Given the description of an element on the screen output the (x, y) to click on. 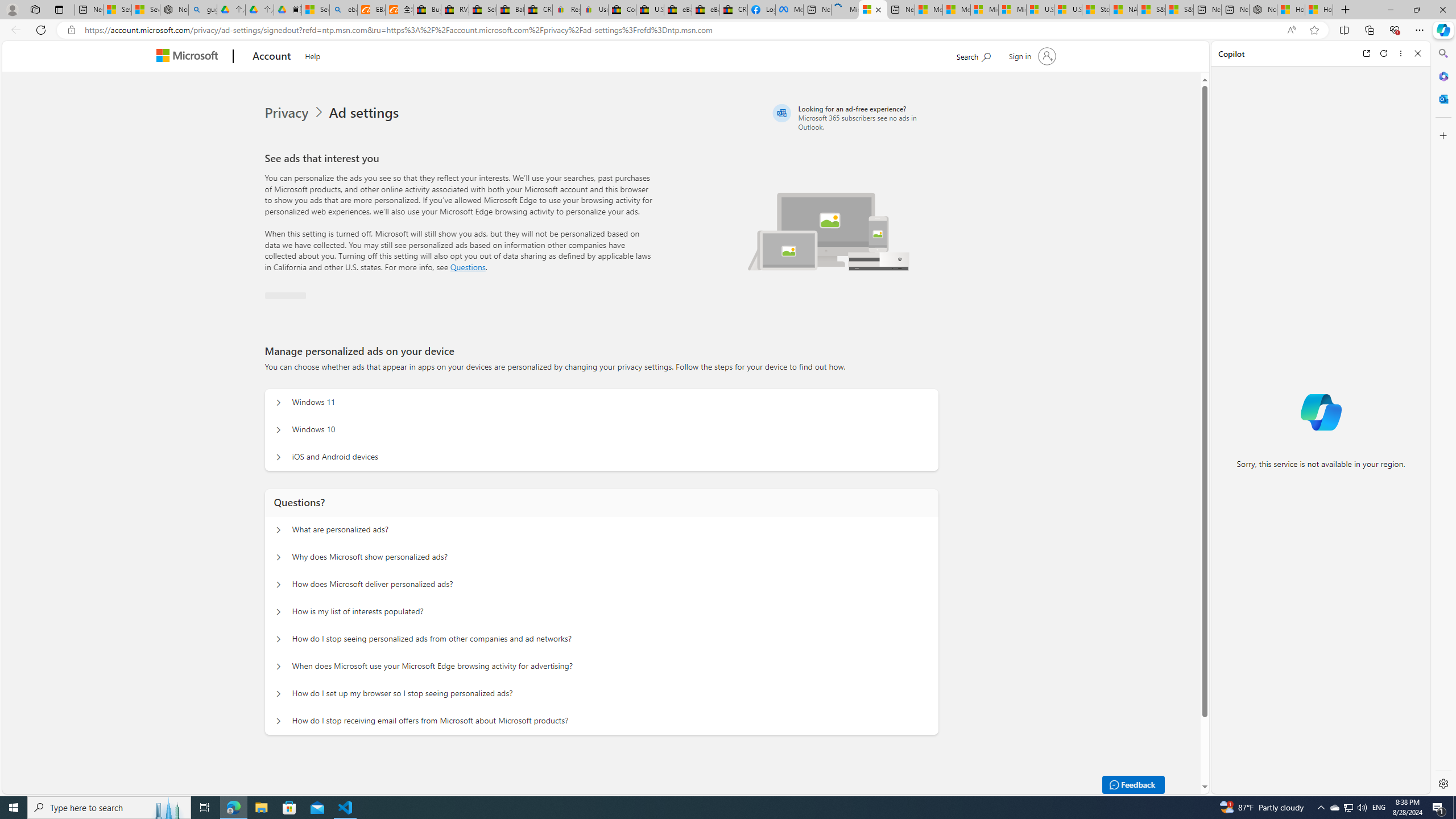
Open link in new tab (1366, 53)
eBay Inc. Reports Third Quarter 2023 Results (706, 9)
Microsoft (189, 56)
Ad settings (366, 112)
